Given the description of an element on the screen output the (x, y) to click on. 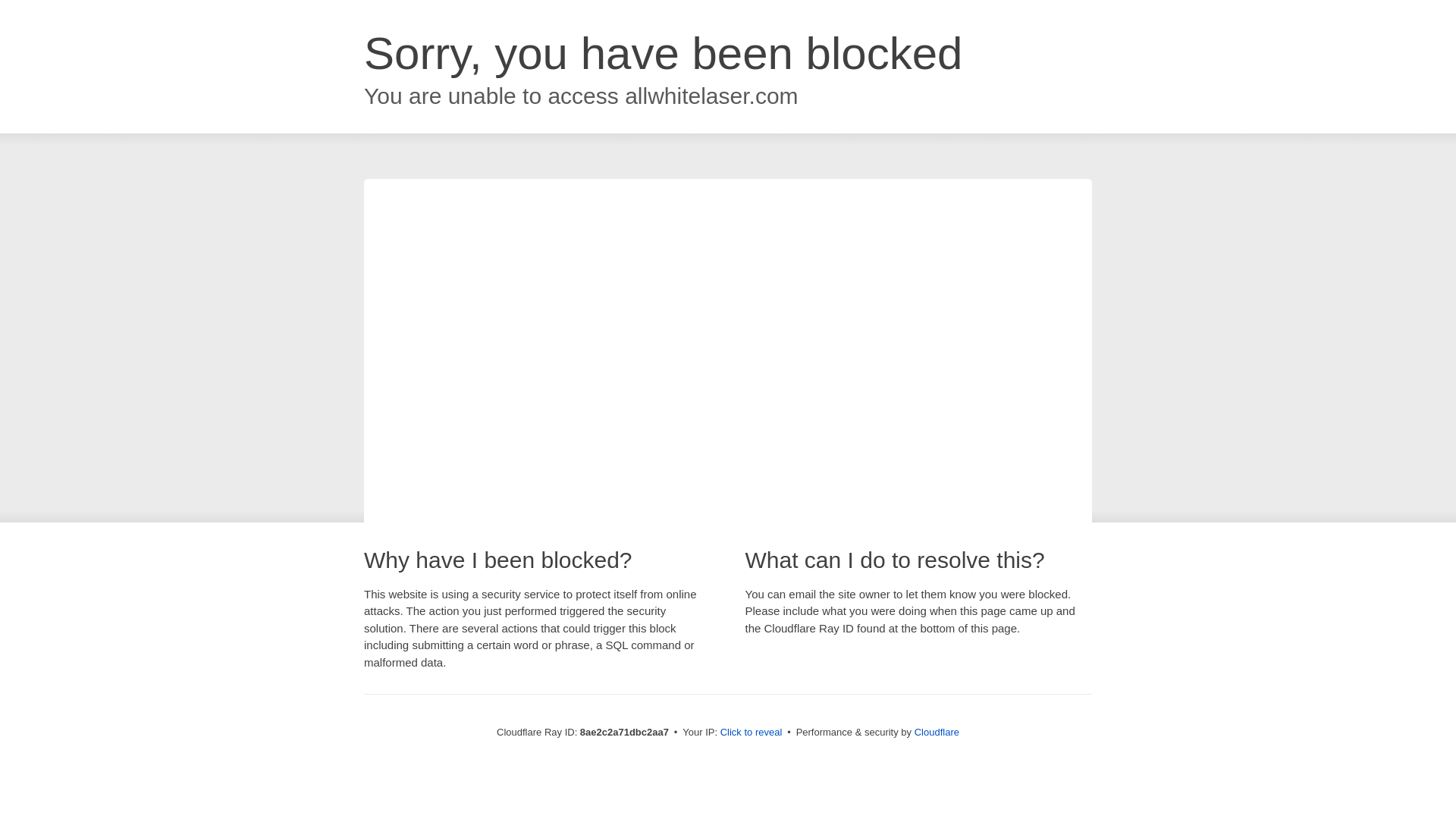
Cloudflare (936, 731)
Click to reveal (751, 732)
